Given the description of an element on the screen output the (x, y) to click on. 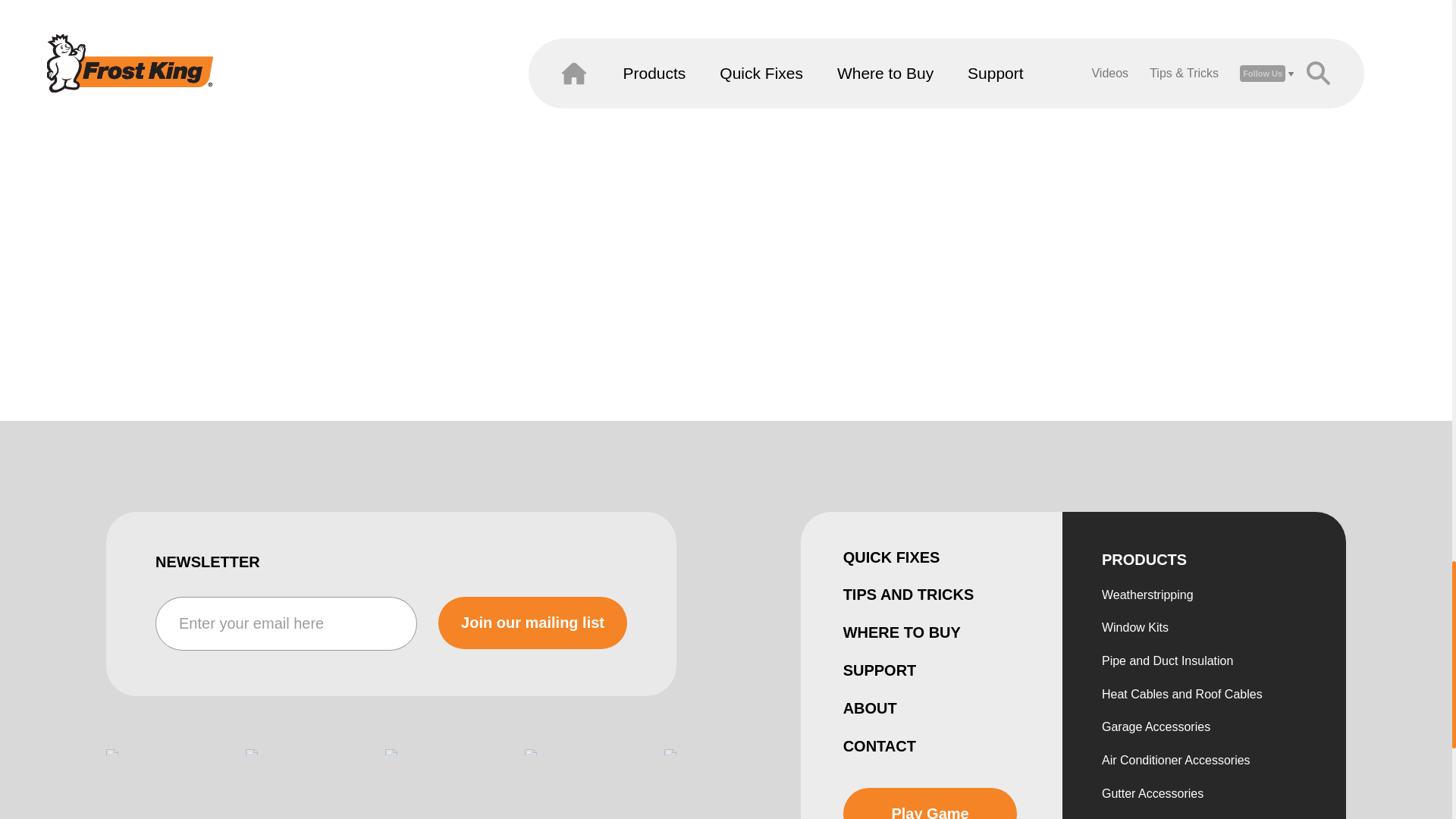
Weatherstripping (1147, 595)
PRODUCTS (1144, 559)
Join our mailing list (532, 623)
Window Kits (1135, 627)
